Given the description of an element on the screen output the (x, y) to click on. 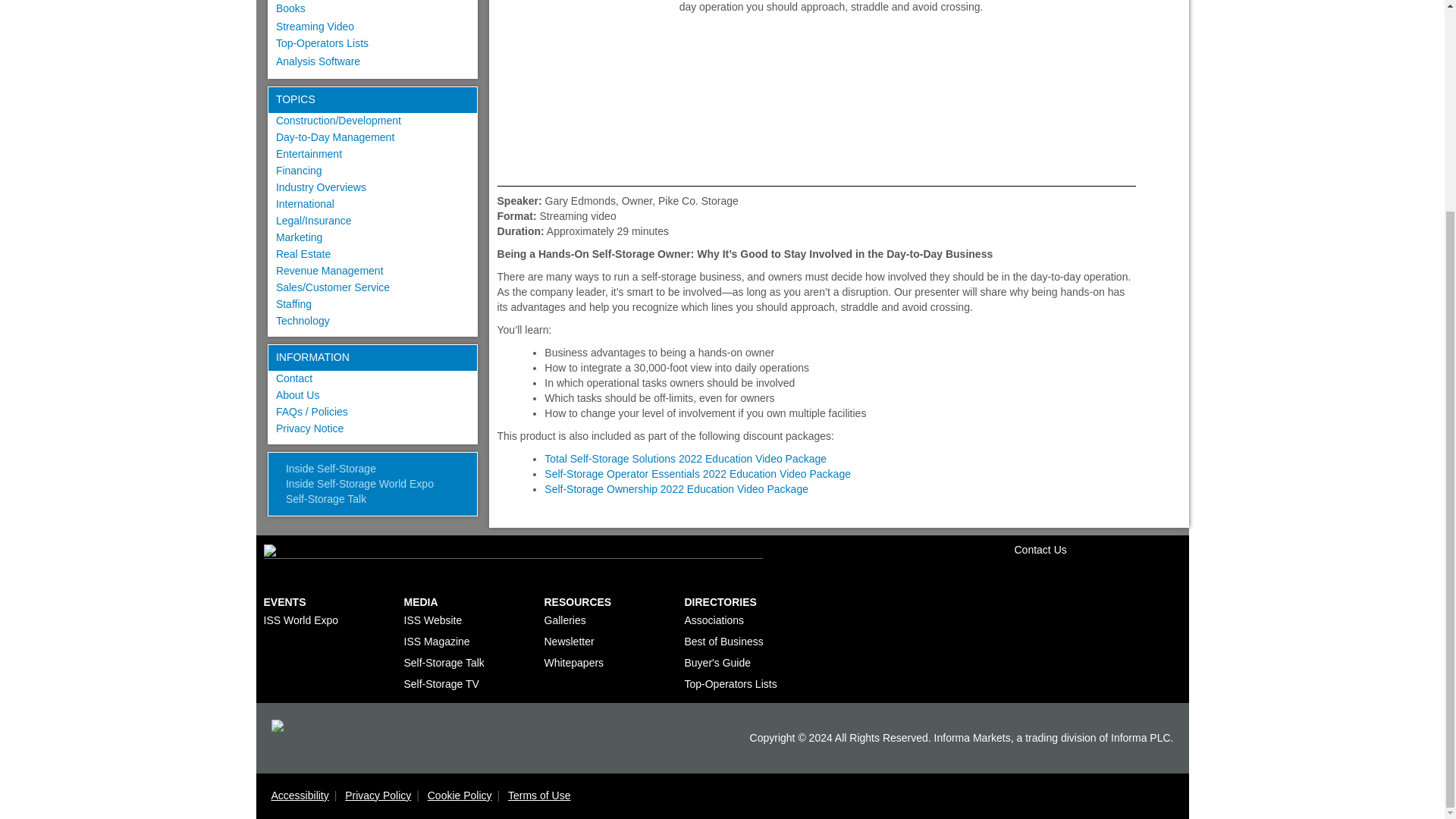
Streaming Video (314, 26)
Top-Operators Lists (322, 42)
Books (290, 8)
